Given the description of an element on the screen output the (x, y) to click on. 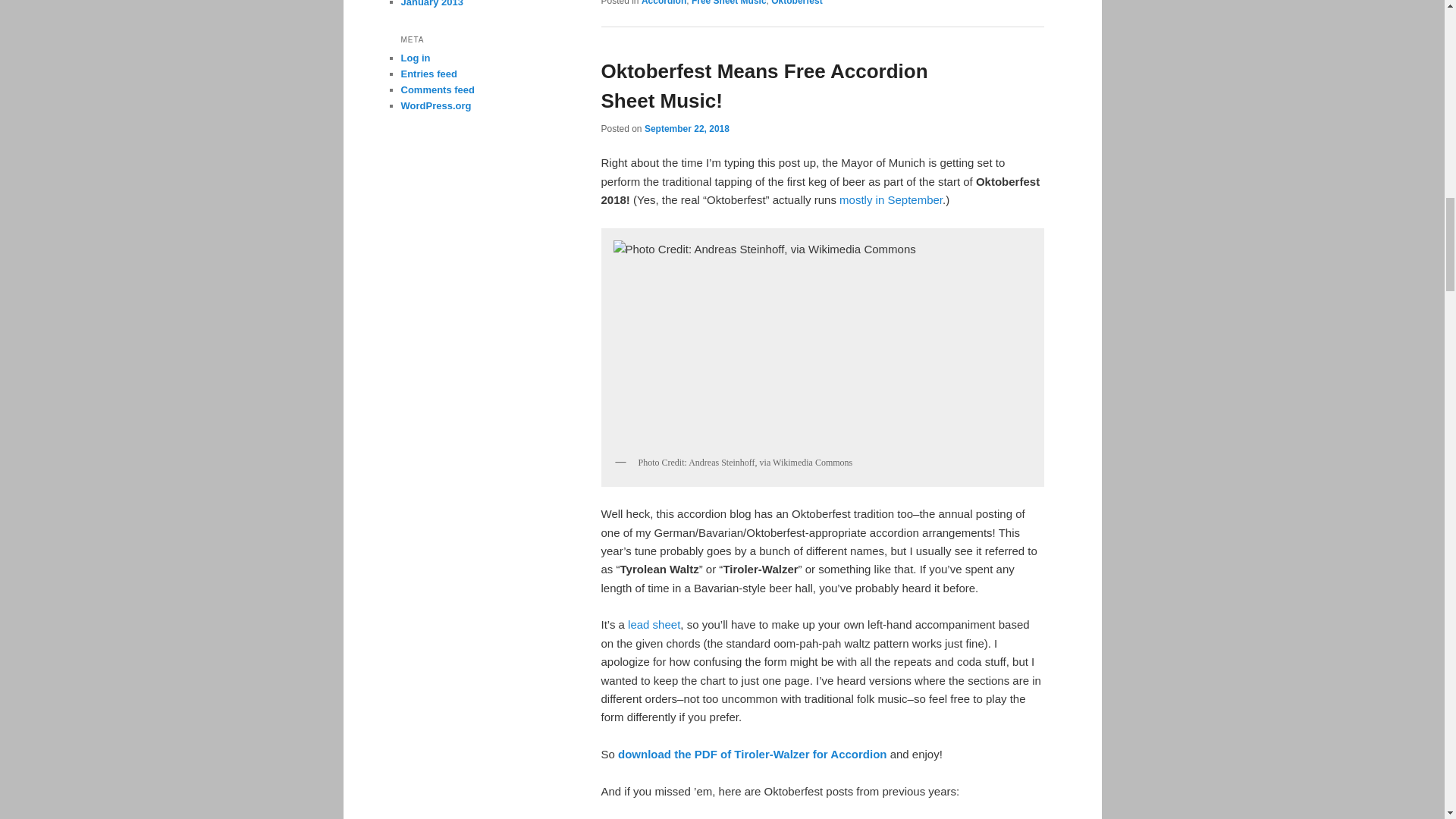
lead sheet (653, 624)
Oktoberfest (796, 2)
Link to Reader's Digest article about Oktoberfest (891, 199)
Accordion (663, 2)
Sheet Music for Tiroler-Walzer or Tyrolean Waltz (751, 753)
4:00 am (687, 128)
September 22, 2018 (687, 128)
download the PDF of Tiroler-Walzer for Accordion (751, 753)
Oktoberfest Means Free Accordion Sheet Music! (763, 85)
Free Sheet Music (729, 2)
